Given the description of an element on the screen output the (x, y) to click on. 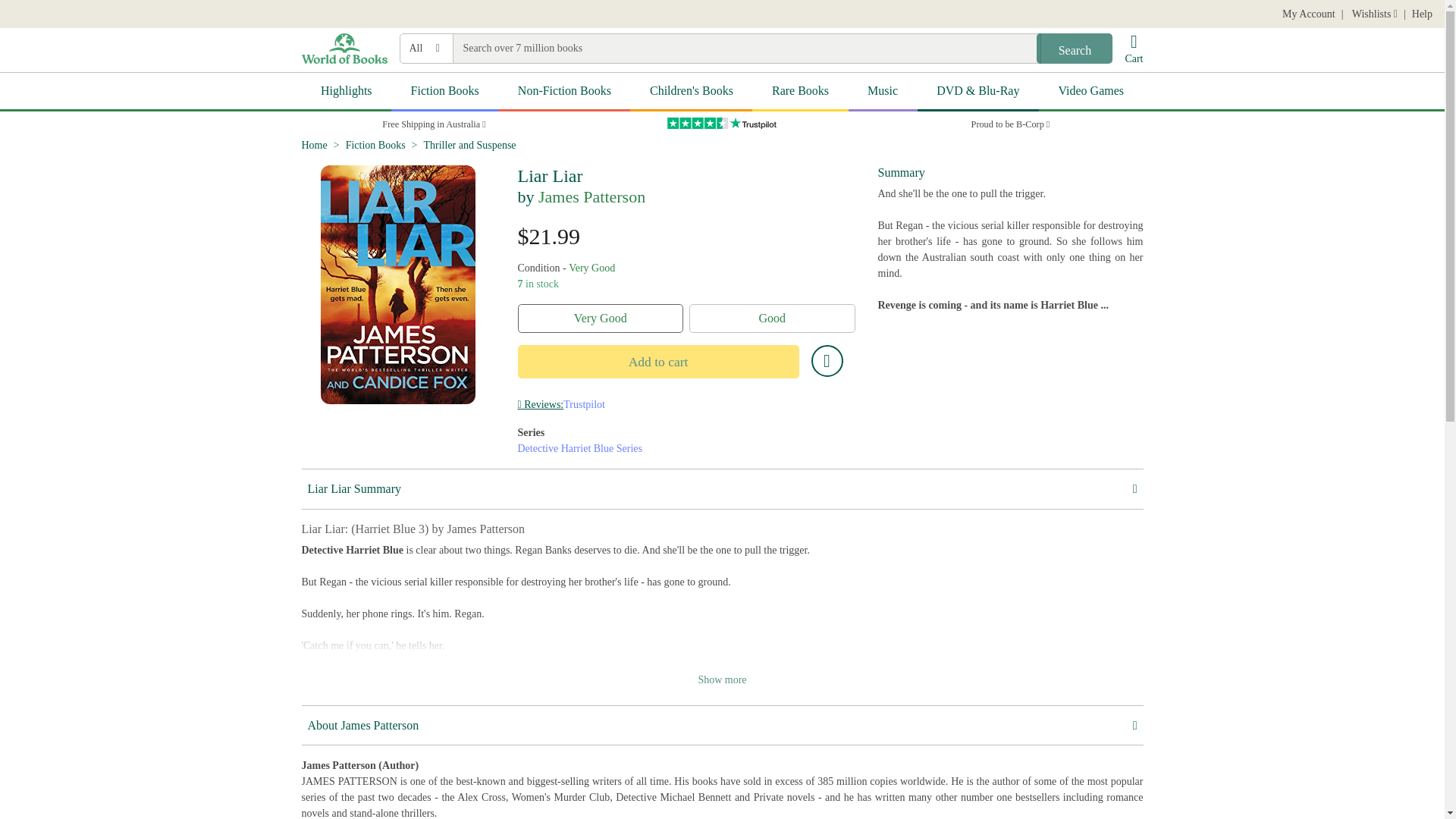
Fiction Books (444, 91)
Good (772, 317)
Detective Harriet Blue Series (579, 448)
Information (539, 404)
Good (772, 317)
Rare Books (799, 91)
Add to cart (656, 361)
Video Games (1090, 91)
James Patterson (591, 196)
My Account (1308, 13)
